Given the description of an element on the screen output the (x, y) to click on. 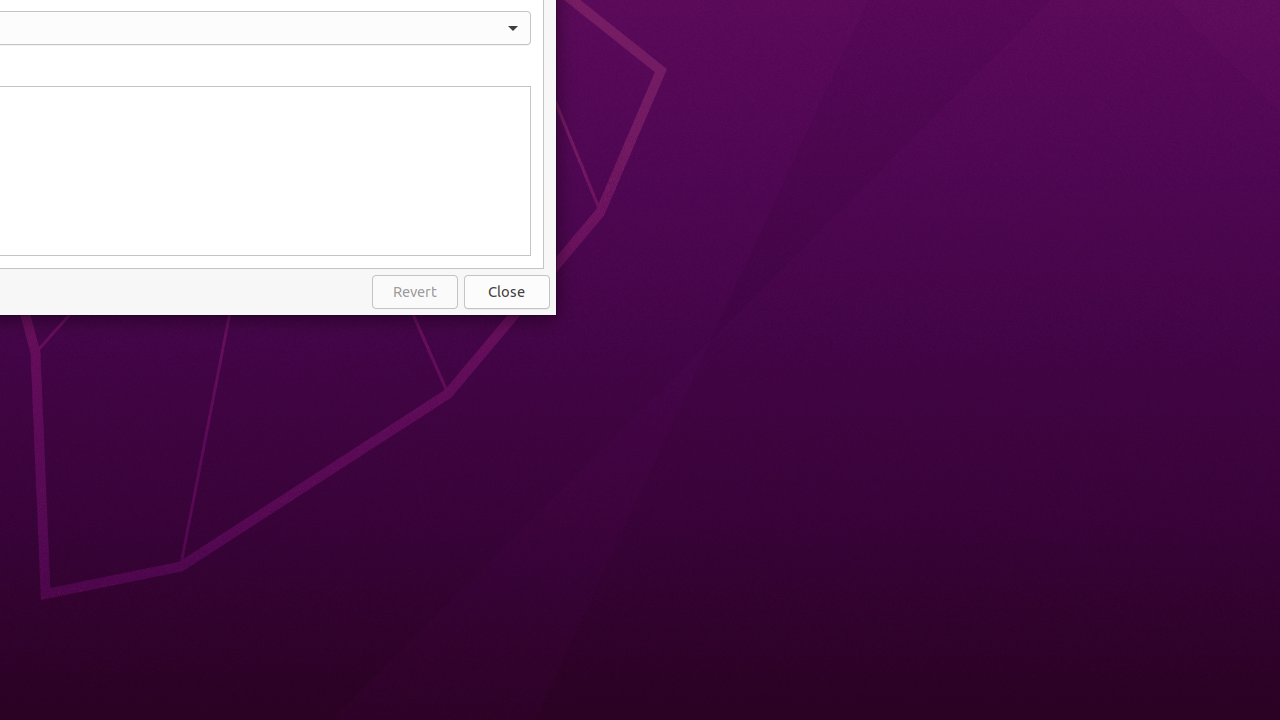
Revert Element type: push-button (415, 292)
Close Element type: push-button (507, 292)
